Given the description of an element on the screen output the (x, y) to click on. 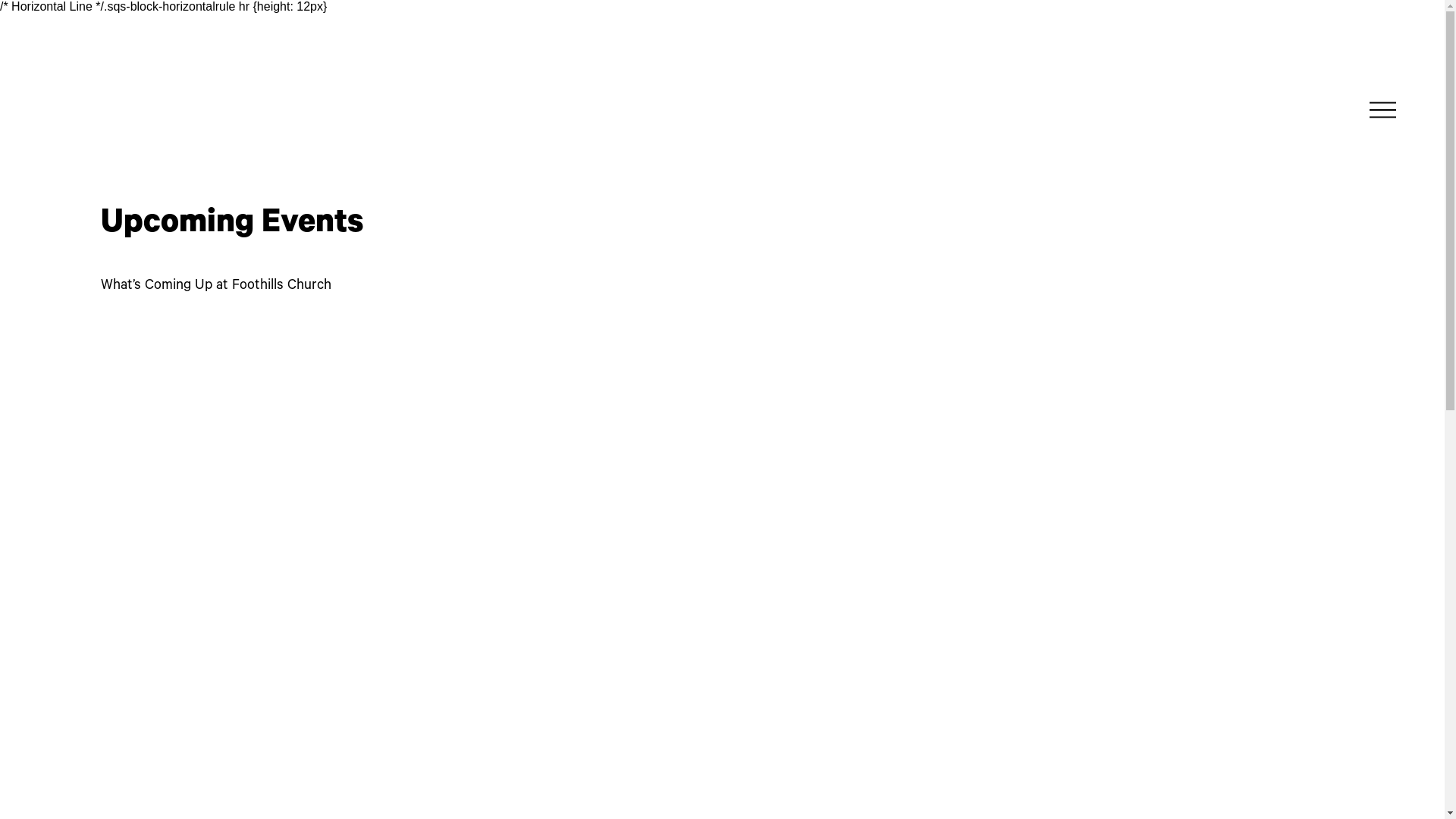
Open Menu Element type: text (1382, 109)
